Given the description of an element on the screen output the (x, y) to click on. 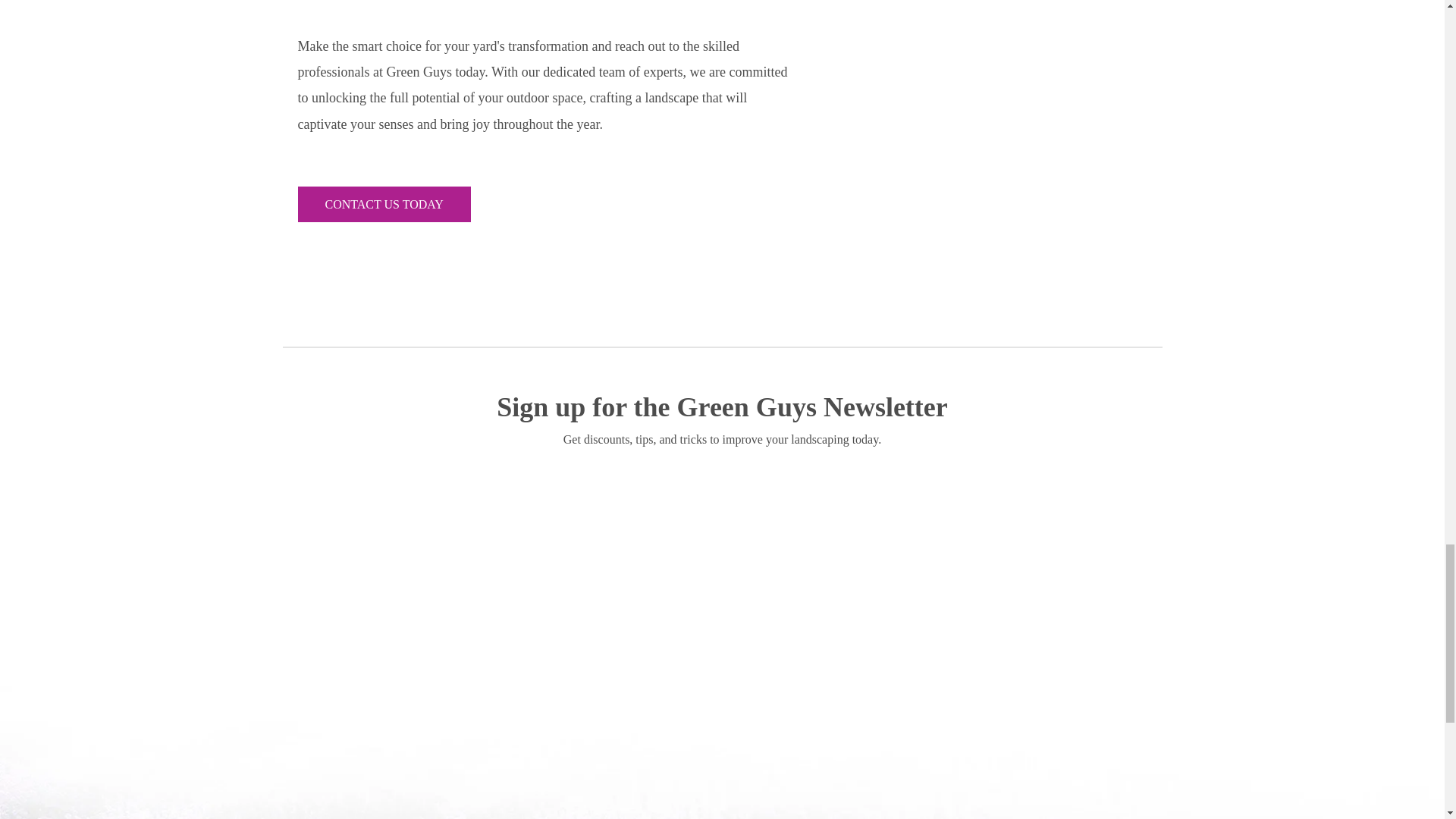
Page 2 (545, 85)
